Given the description of an element on the screen output the (x, y) to click on. 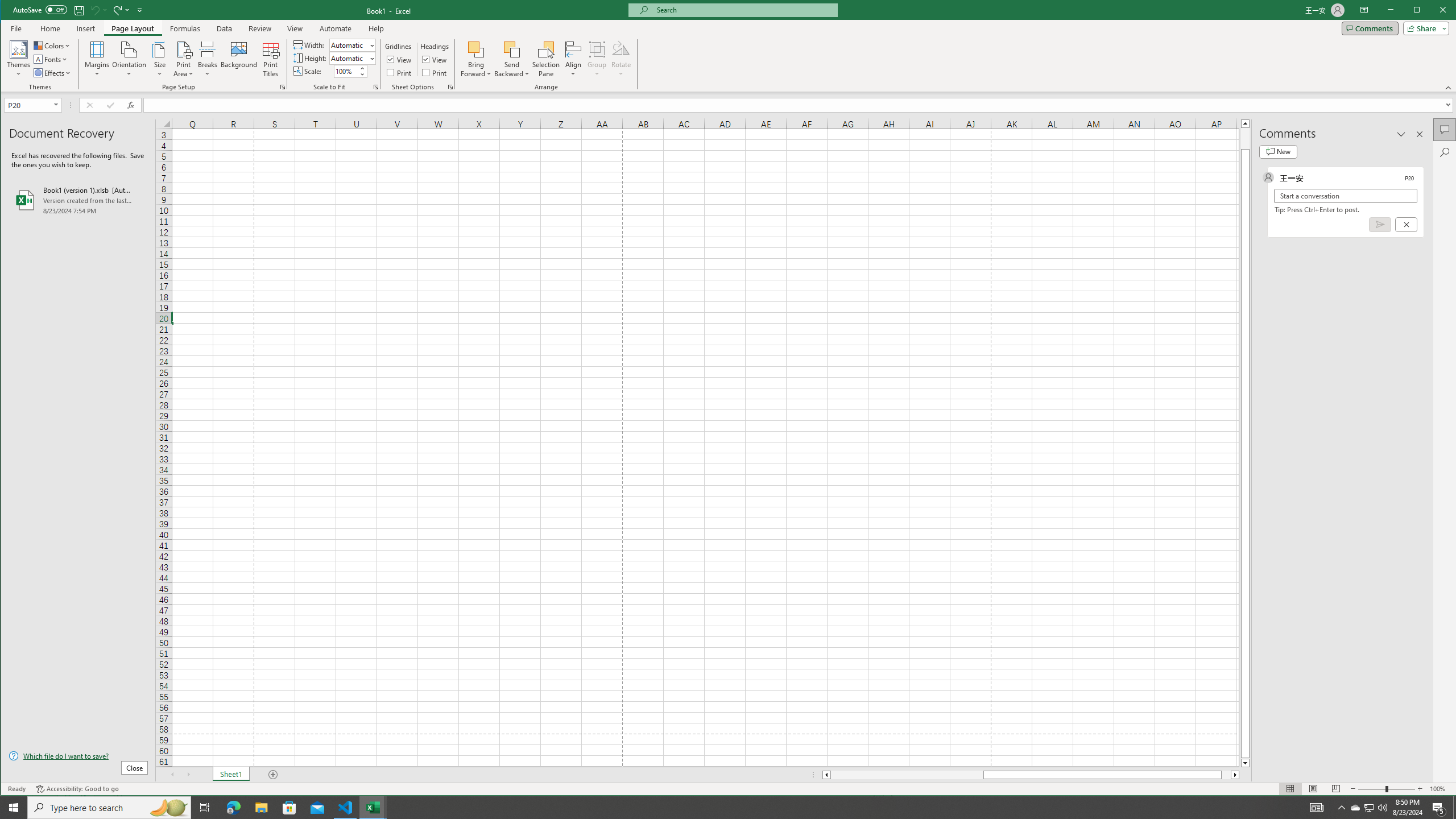
Page up (1245, 138)
Cancel (1405, 224)
Align (573, 59)
Width (349, 45)
Maximize (1432, 11)
Print (434, 72)
